Given the description of an element on the screen output the (x, y) to click on. 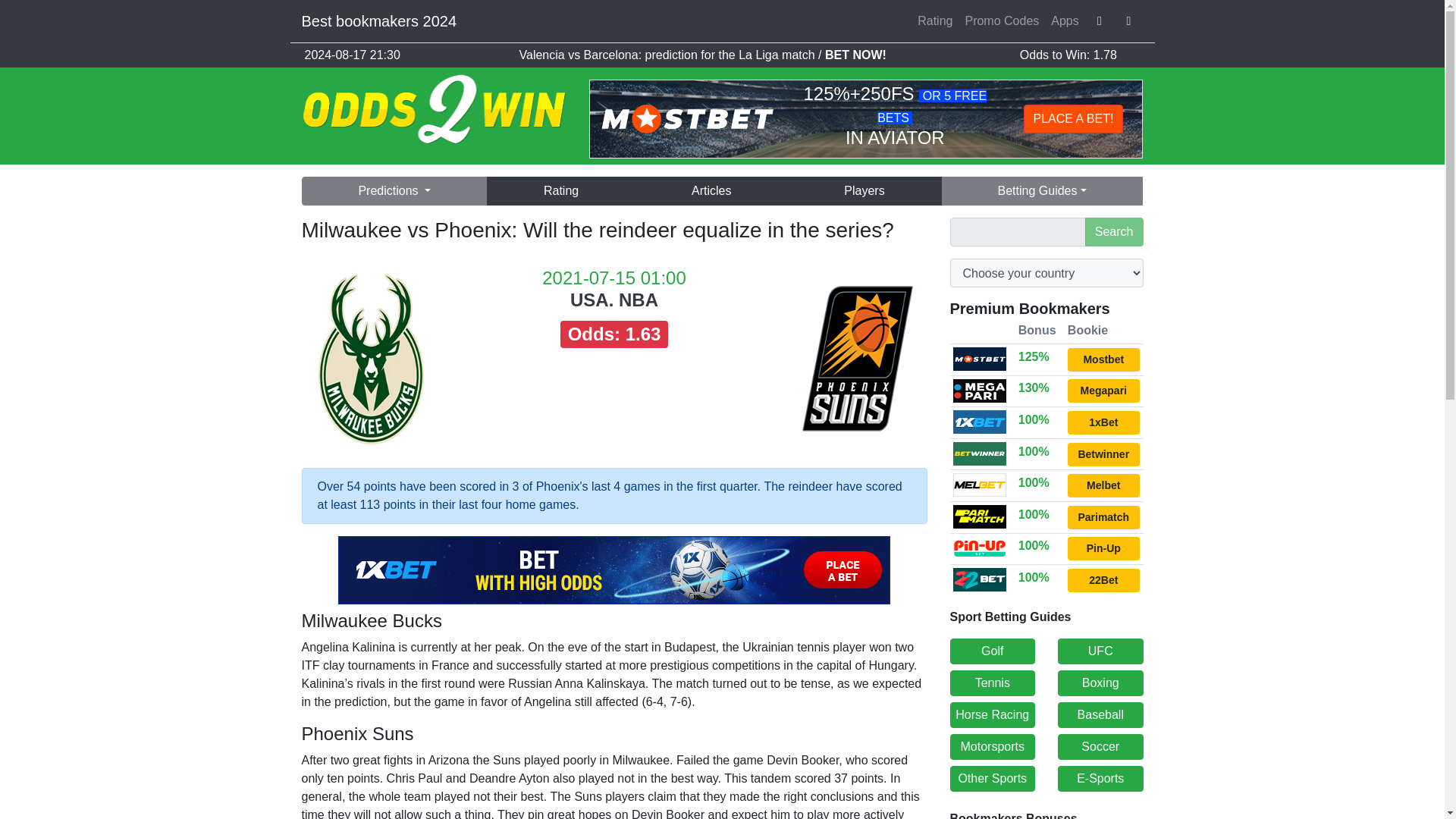
BET NOW! (855, 54)
Promo code: ODDS2WIN (1103, 454)
Promo Codes (1001, 20)
Odds to Win: 1.78 (1068, 54)
Rating (560, 190)
Apps (1064, 20)
Valencia vs Barcelona: prediction for the La Liga match (668, 54)
Promo code: ODDS2WIN (1103, 422)
Promo code: ODDS2WIN (1103, 390)
Promo code: ODDS2WIN (1103, 359)
